Given the description of an element on the screen output the (x, y) to click on. 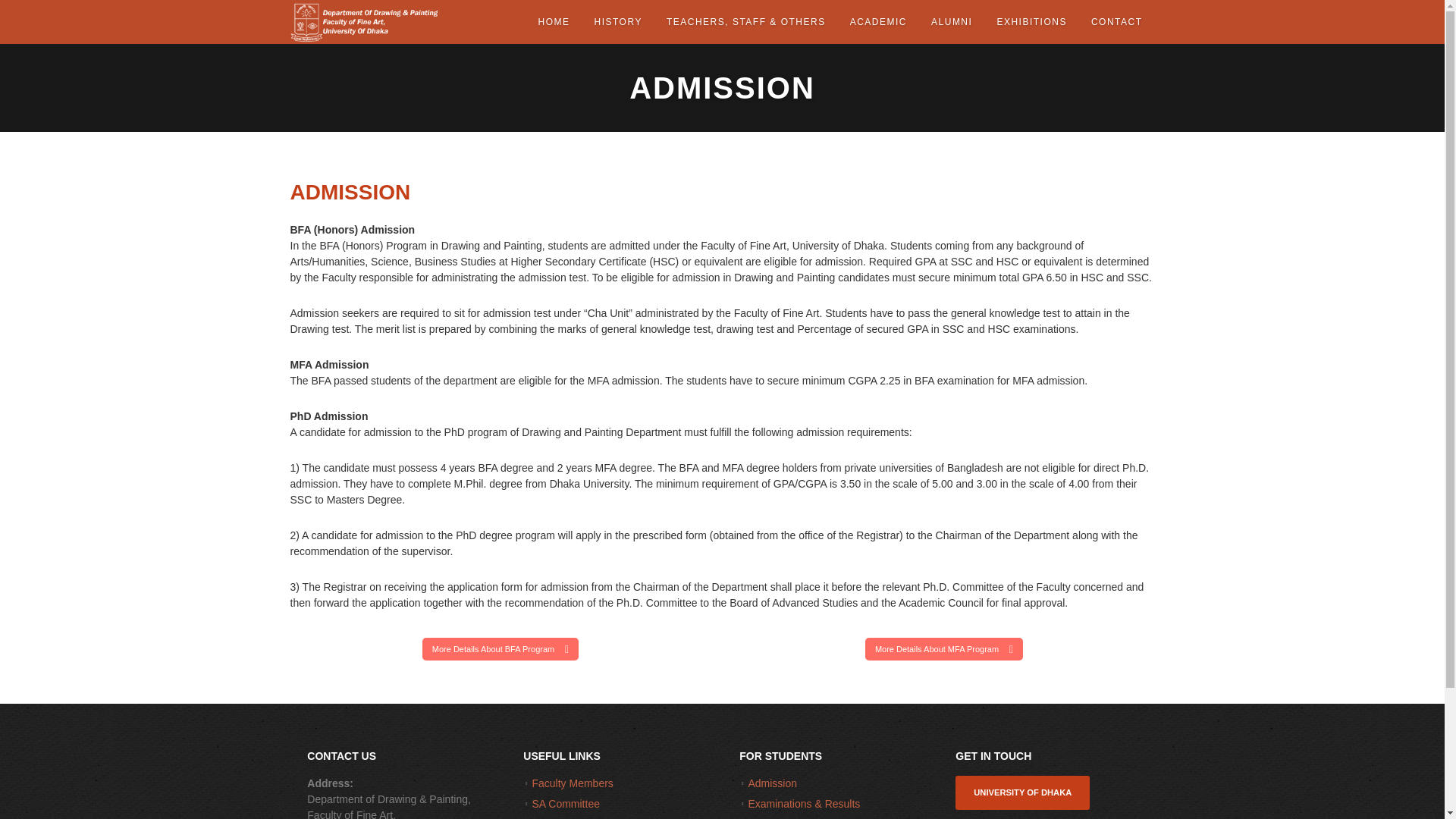
ACADEMIC (878, 22)
EXHIBITIONS (1031, 22)
HOME (552, 22)
More Details About MFA Program (943, 649)
More Details About BFA Program (500, 649)
CONTACT (1116, 22)
ALUMNI (951, 22)
HISTORY (616, 22)
